Given the description of an element on the screen output the (x, y) to click on. 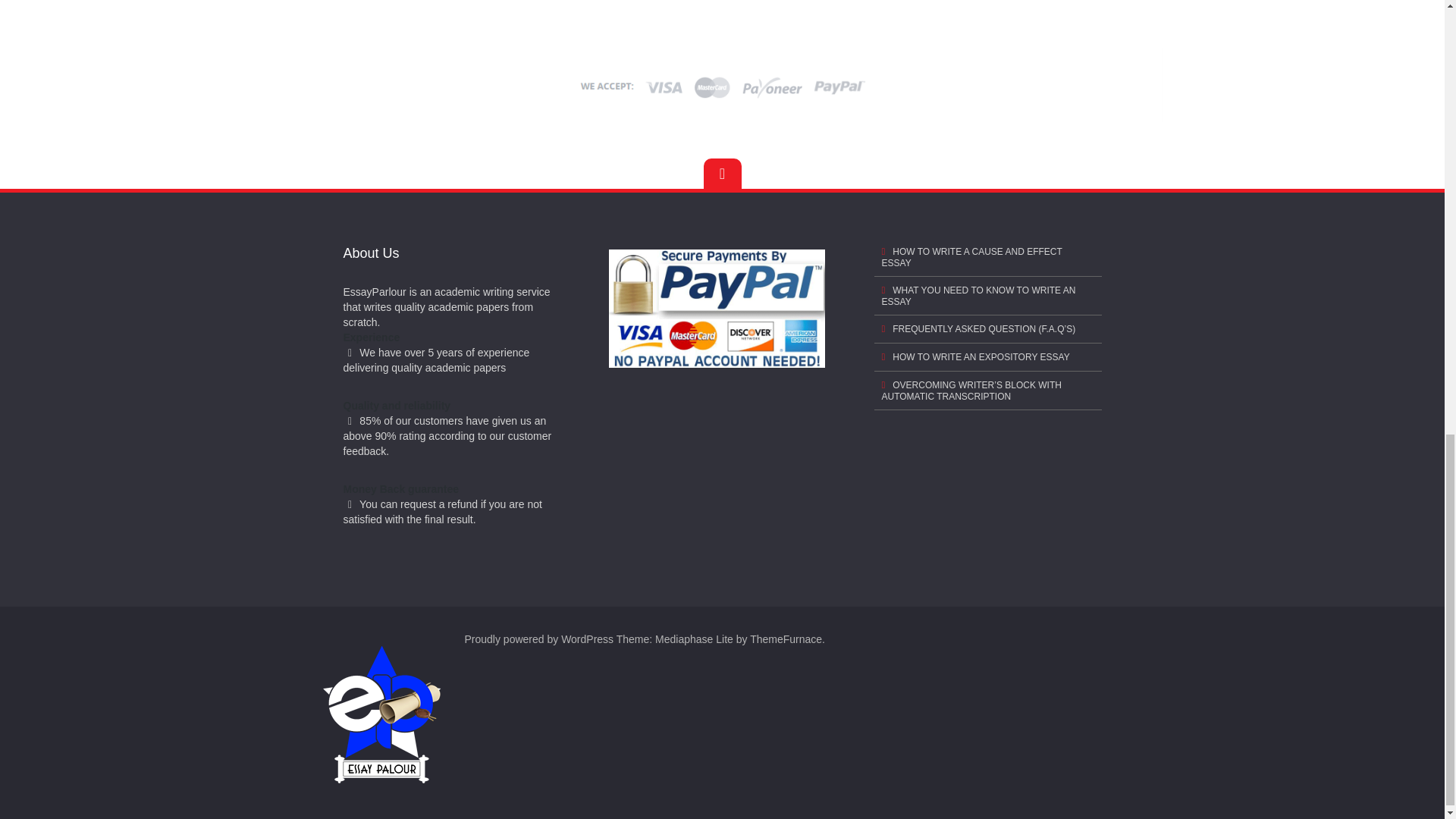
Proudly powered by WordPress (538, 639)
HOW TO WRITE A CAUSE AND EFFECT ESSAY (986, 257)
ThemeFurnace (785, 639)
WHAT YOU NEED TO KNOW TO WRITE AN ESSAY (986, 295)
HOW TO WRITE AN EXPOSITORY ESSAY (986, 357)
